Given the description of an element on the screen output the (x, y) to click on. 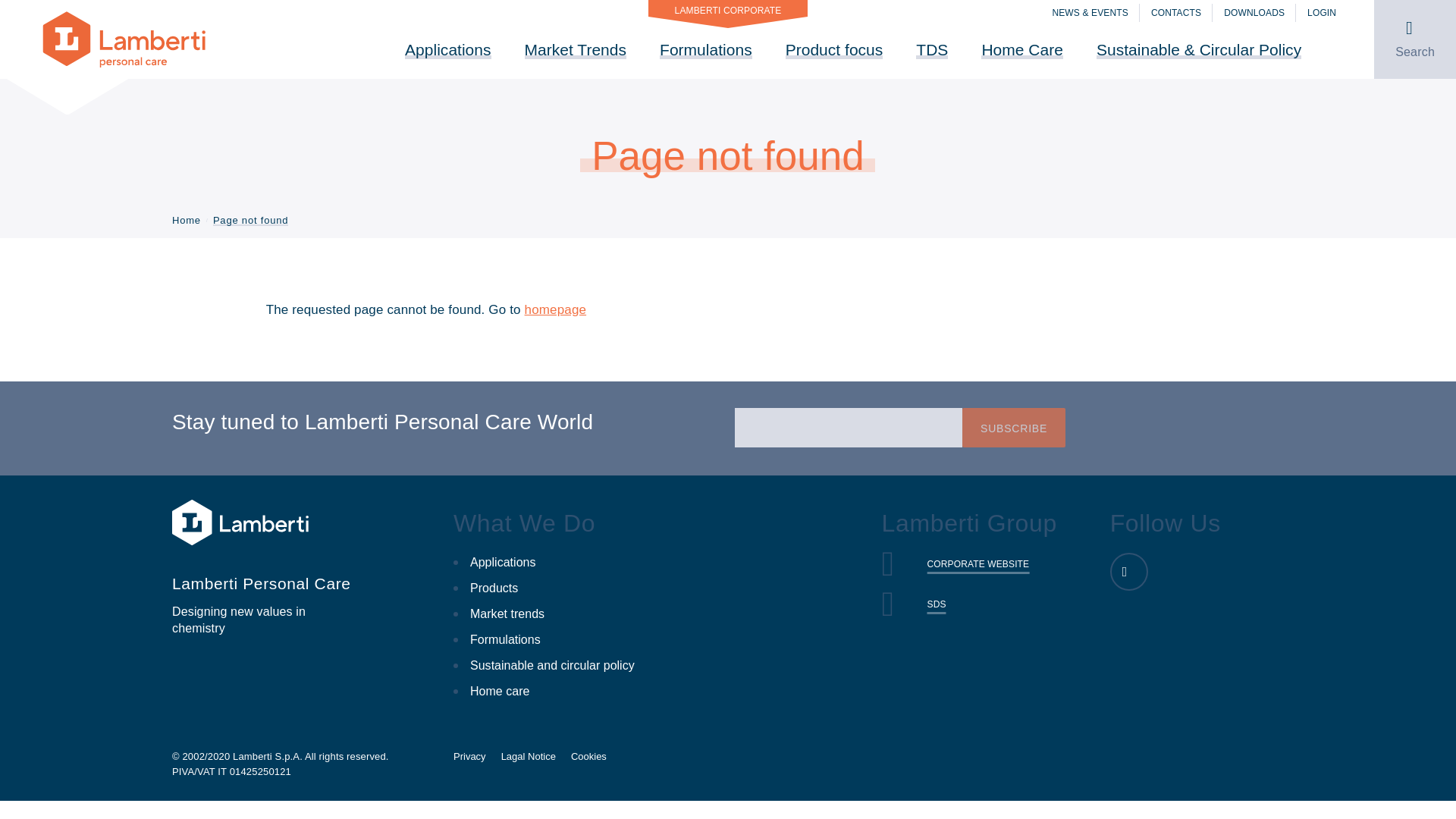
CONTACTS (1176, 13)
DOWNLOADS (1254, 13)
Market Trends (575, 49)
Applications (447, 49)
Personal Care - Lamberti Group (125, 38)
LAMBERTI CORPORATE (727, 8)
LOGIN (1321, 13)
